Given the description of an element on the screen output the (x, y) to click on. 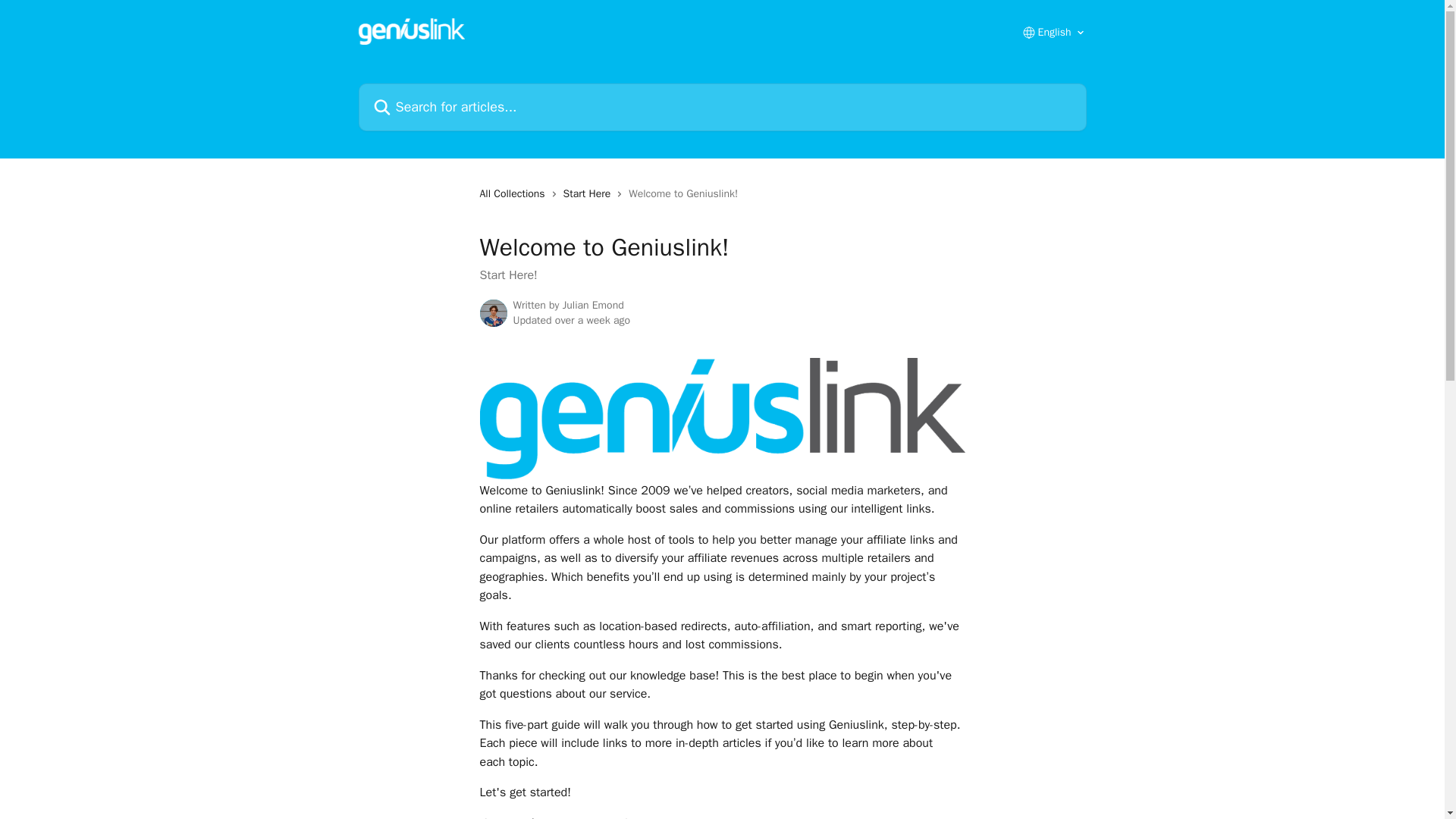
sign up here (807, 817)
Start Here (590, 193)
All Collections (514, 193)
